Given the description of an element on the screen output the (x, y) to click on. 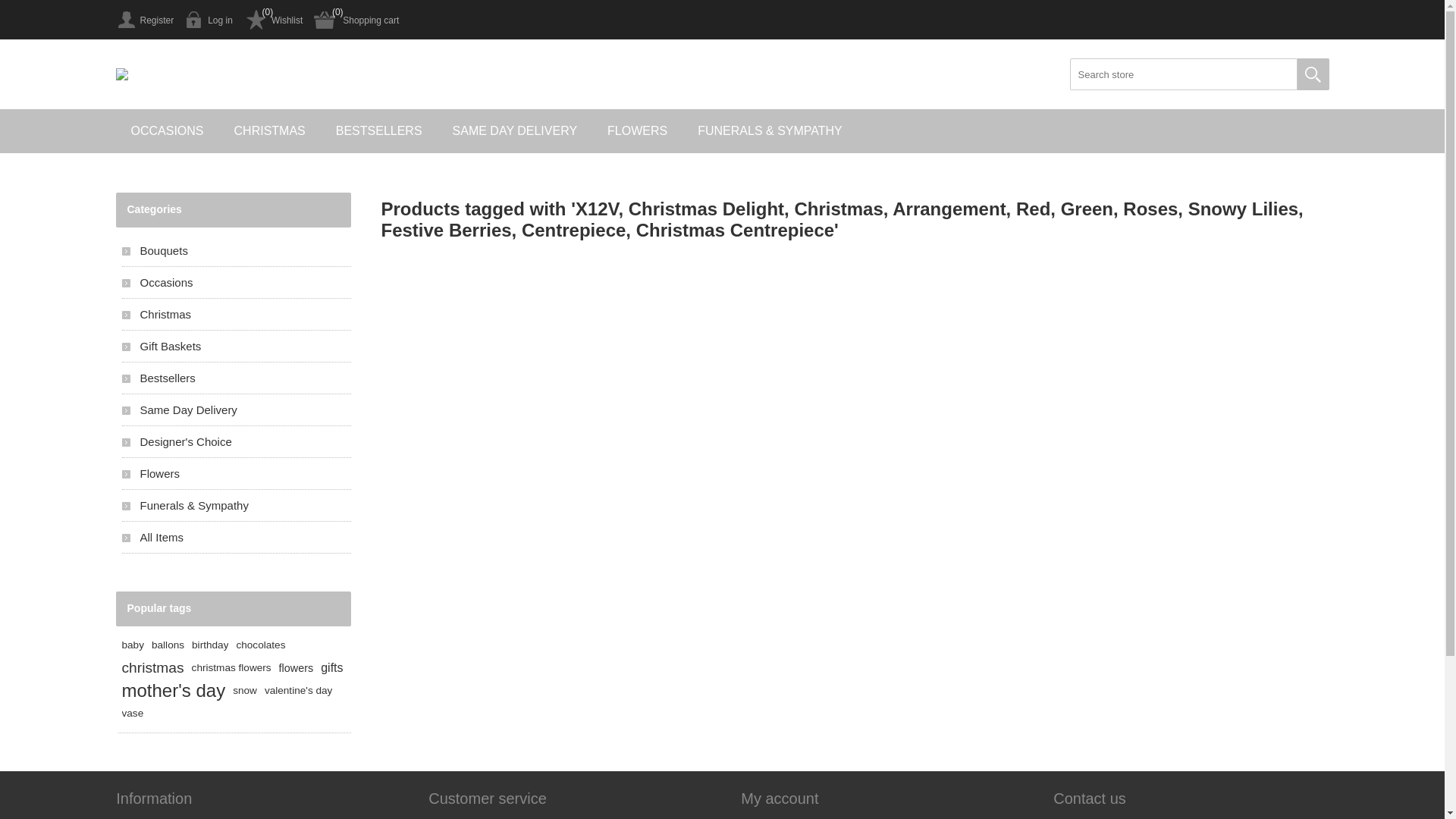
All Items Element type: text (235, 536)
birthday Element type: text (209, 644)
Wishlist Element type: text (273, 19)
ballons Element type: text (167, 644)
valentine's day Element type: text (298, 690)
Log in Element type: text (208, 19)
Bestsellers Element type: text (235, 377)
Christmas Element type: text (235, 313)
Register Element type: text (144, 19)
Bouquets Element type: text (235, 250)
Funerals & Sympathy Element type: text (235, 504)
Same Day Delivery Element type: text (235, 409)
Shopping cart Element type: text (355, 19)
SAME DAY DELIVERY Element type: text (515, 131)
FLOWERS Element type: text (637, 131)
christmas flowers Element type: text (231, 667)
Designer's Choice Element type: text (235, 441)
flowers Element type: text (296, 667)
CHRISTMAS Element type: text (269, 131)
Search Element type: text (1312, 74)
baby Element type: text (132, 644)
Occasions Element type: text (235, 282)
chocolates Element type: text (260, 644)
snow Element type: text (244, 690)
FUNERALS & SYMPATHY Element type: text (769, 131)
gifts Element type: text (331, 667)
OCCASIONS Element type: text (166, 131)
BESTSELLERS Element type: text (378, 131)
vase Element type: text (132, 713)
christmas Element type: text (152, 667)
Gift Baskets Element type: text (235, 345)
mother's day Element type: text (173, 690)
Flowers Element type: text (235, 473)
